Given the description of an element on the screen output the (x, y) to click on. 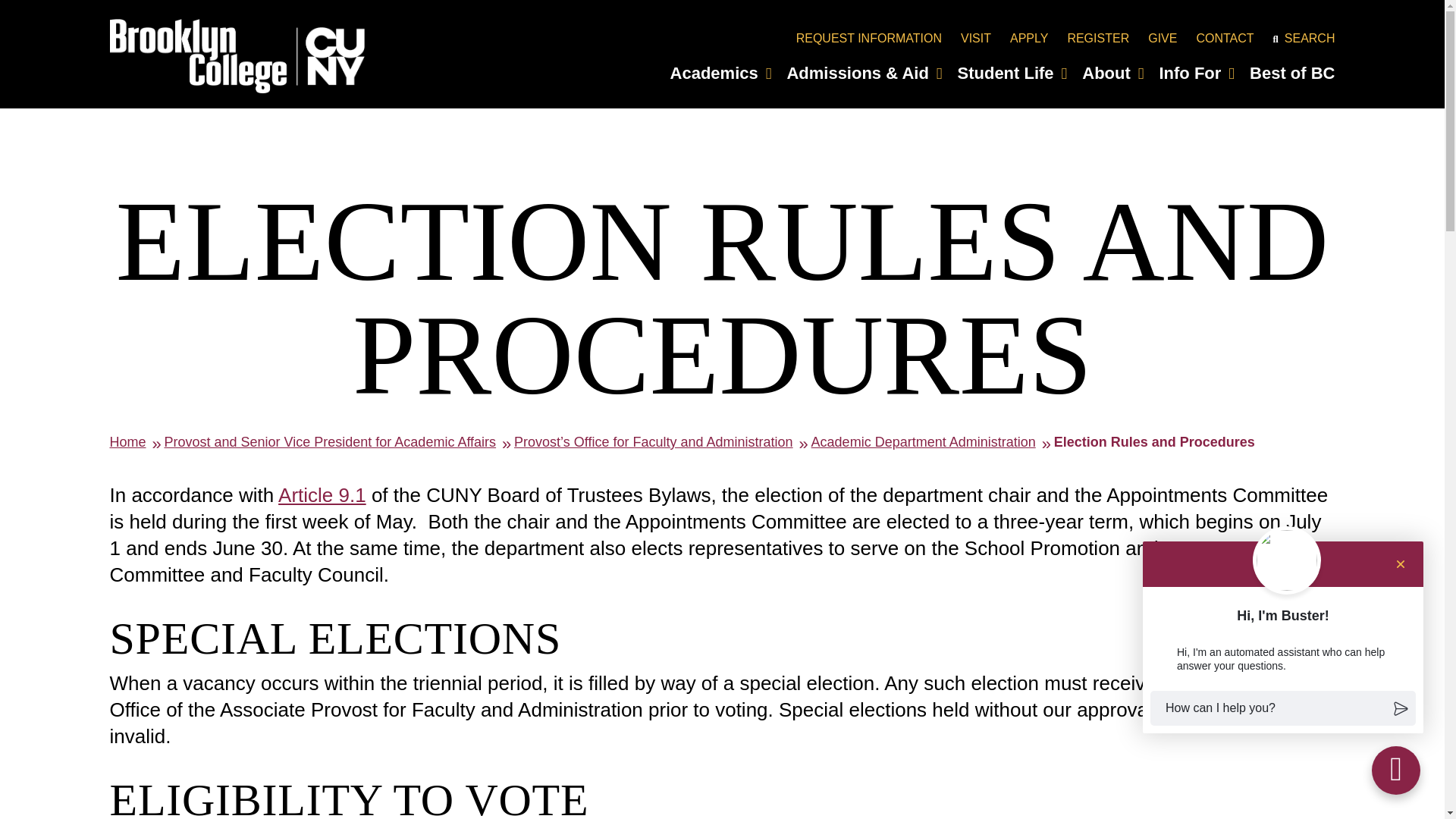
Academics (720, 72)
REQUEST INFORMATION (869, 38)
GIVE (1162, 38)
APPLY (1029, 38)
SEARCH (1303, 38)
REGISTER (1098, 38)
Academics (720, 72)
CONTACT (1224, 38)
About (1111, 72)
VISIT (975, 38)
